Given the description of an element on the screen output the (x, y) to click on. 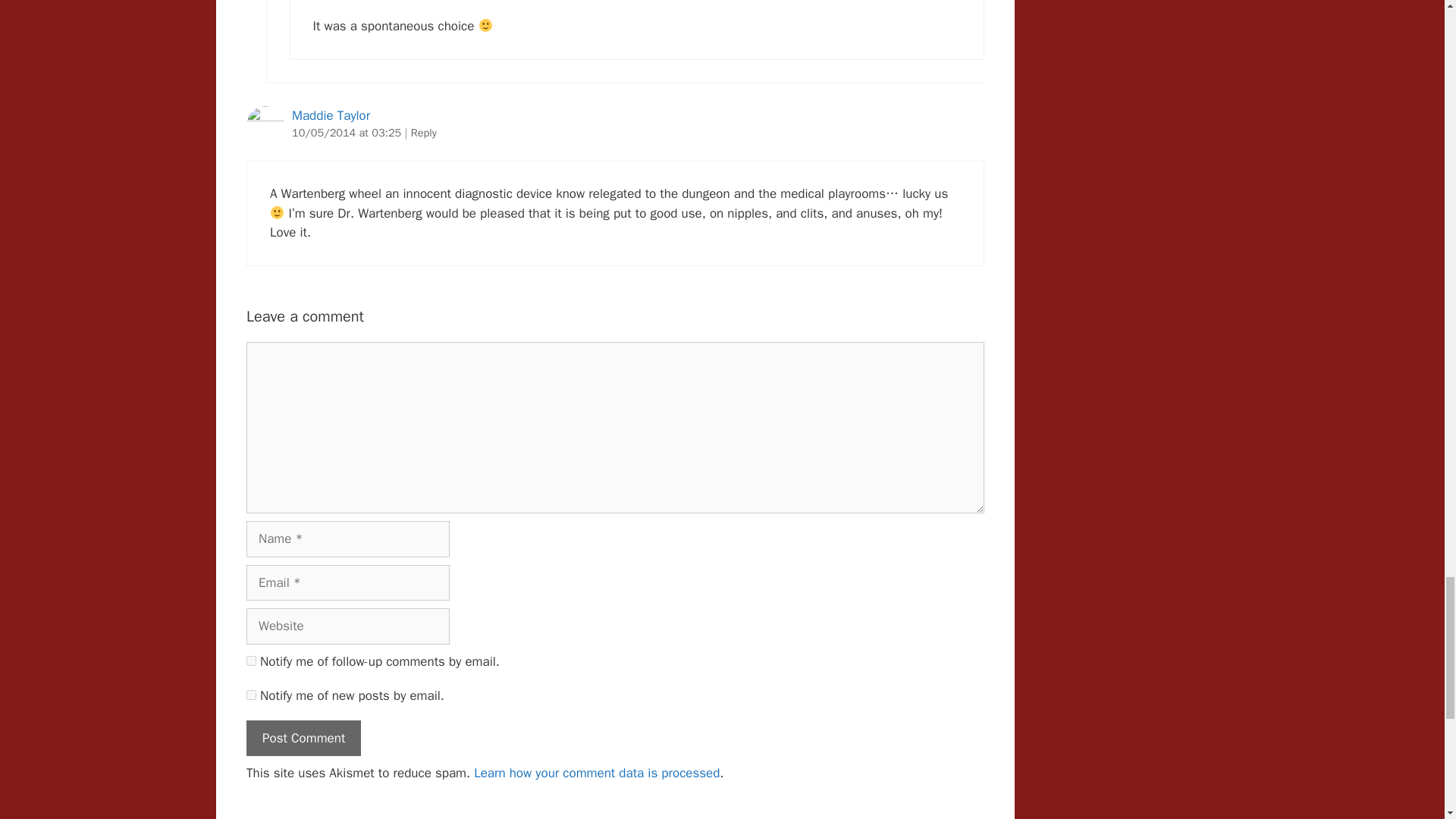
subscribe (251, 695)
subscribe (251, 660)
Post Comment (303, 738)
